Given the description of an element on the screen output the (x, y) to click on. 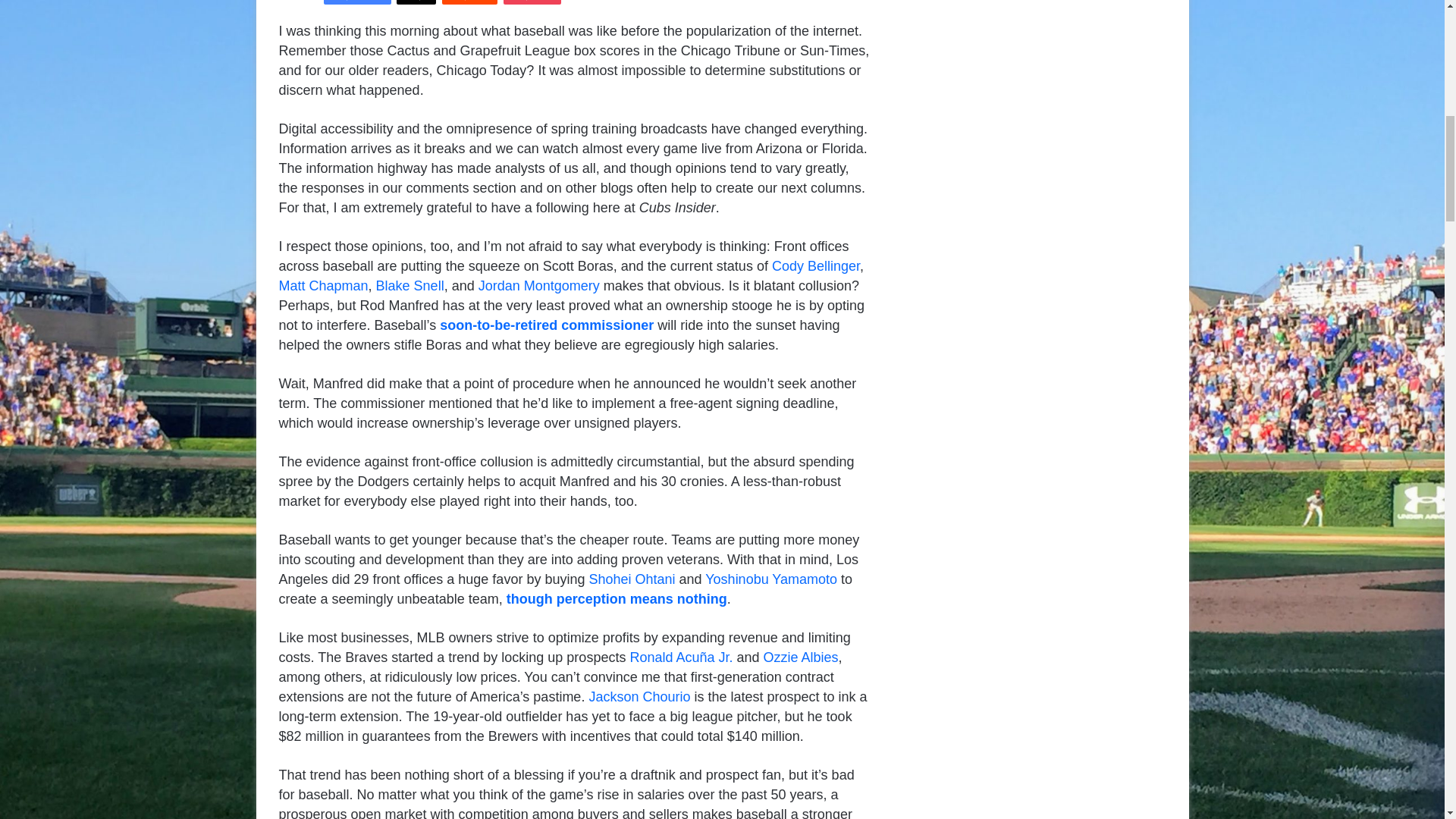
Reddit (469, 2)
Blake Snell (409, 285)
Cody Bellinger (815, 265)
Matt Chapman (323, 285)
X (415, 2)
Facebook (357, 2)
X (415, 2)
Facebook (357, 2)
Pocket (531, 2)
Reddit (469, 2)
